Given the description of an element on the screen output the (x, y) to click on. 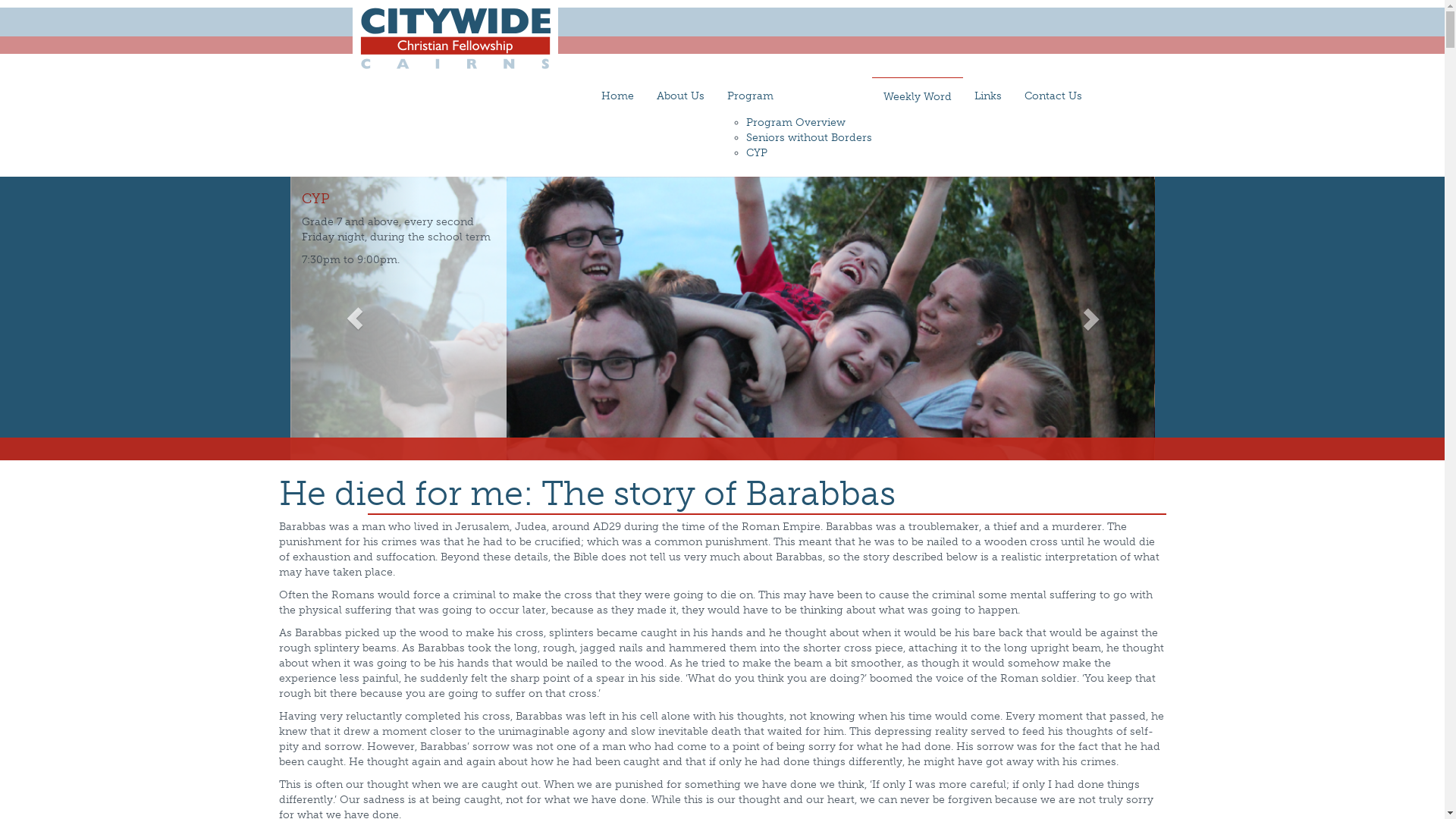
Home Element type: text (617, 96)
Weekly Word Element type: text (917, 96)
Next Element type: text (1089, 318)
CYP Element type: text (756, 152)
Previous Element type: text (354, 318)
Seniors without Borders Element type: text (809, 137)
Program Overview Element type: text (795, 122)
Program Element type: text (793, 96)
Links Element type: text (988, 96)
About Us Element type: text (679, 96)
Contact Us Element type: text (1053, 96)
